Given the description of an element on the screen output the (x, y) to click on. 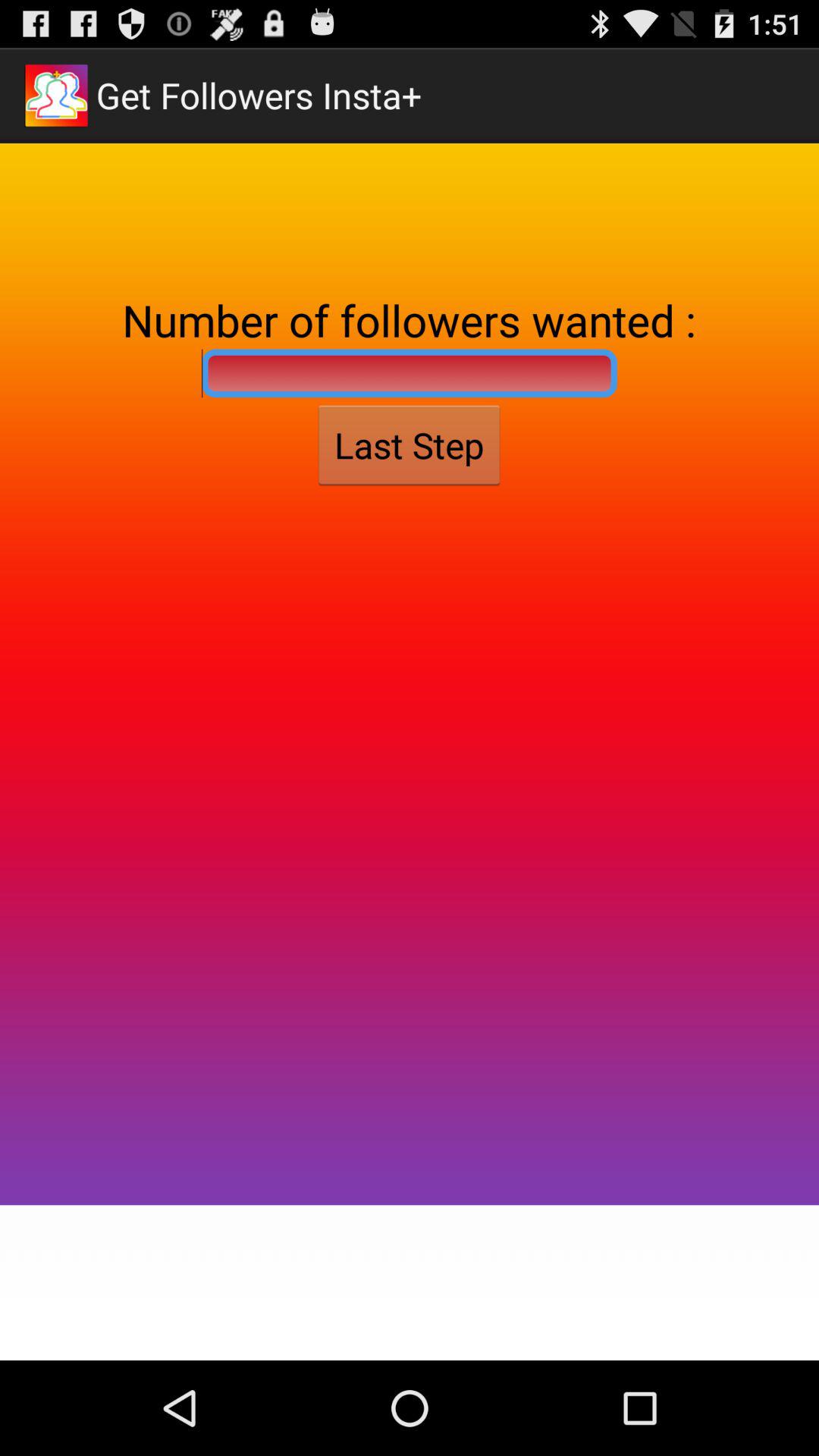
tap last step item (408, 445)
